Given the description of an element on the screen output the (x, y) to click on. 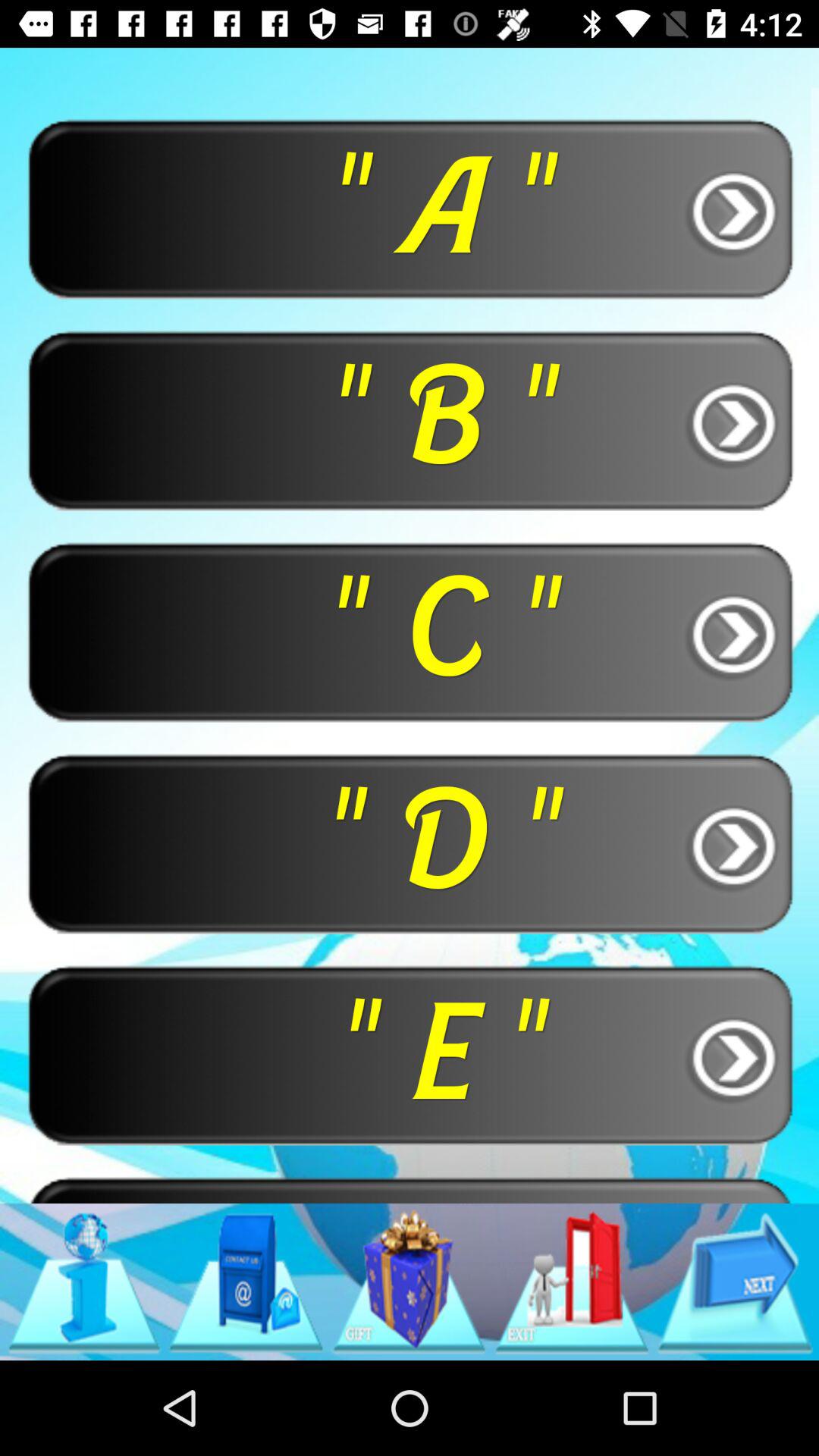
invite others to this page (571, 1281)
